Given the description of an element on the screen output the (x, y) to click on. 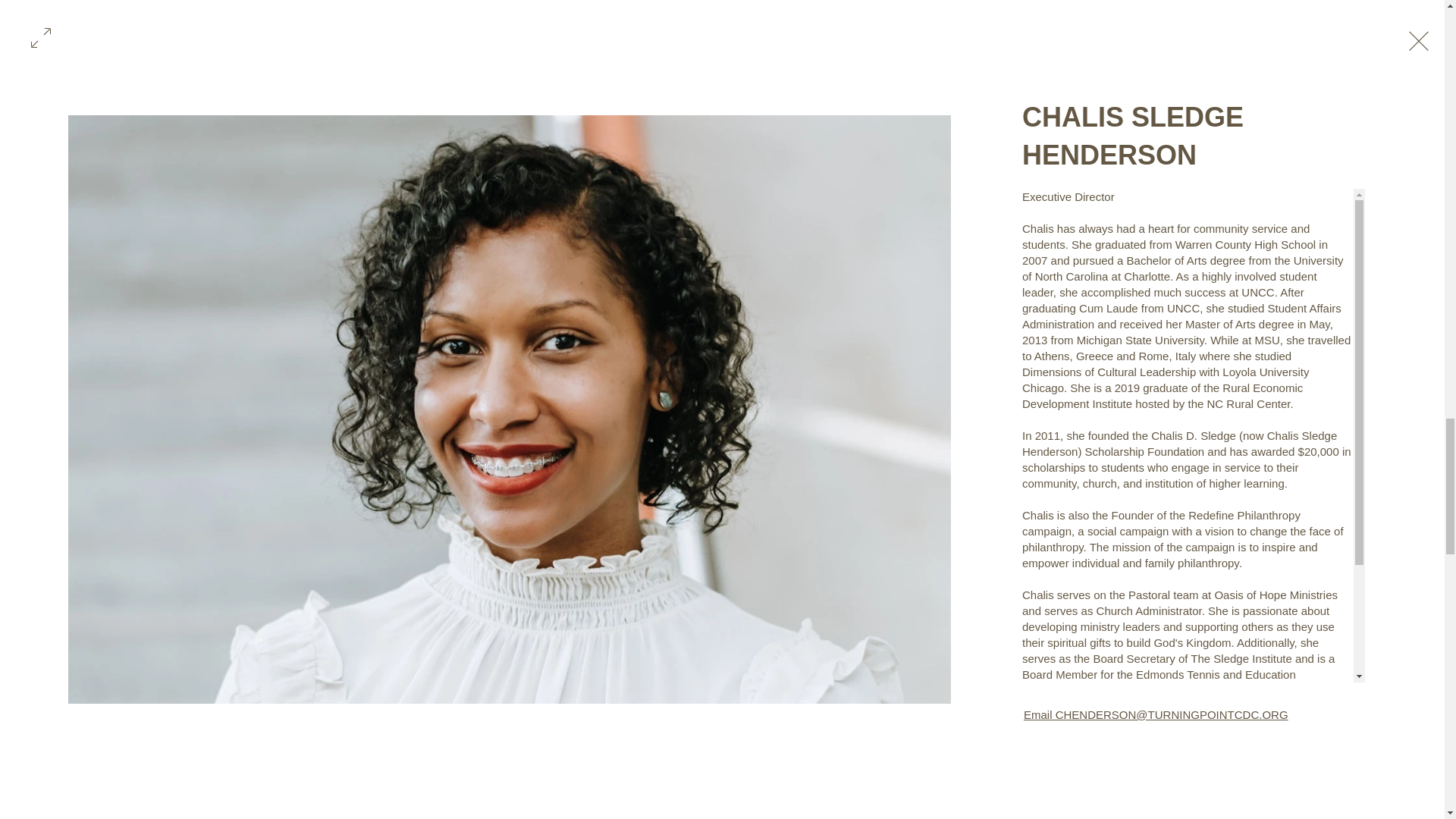
GIVE A GIFT (1001, 811)
GET INVOLVED (628, 810)
